Given the description of an element on the screen output the (x, y) to click on. 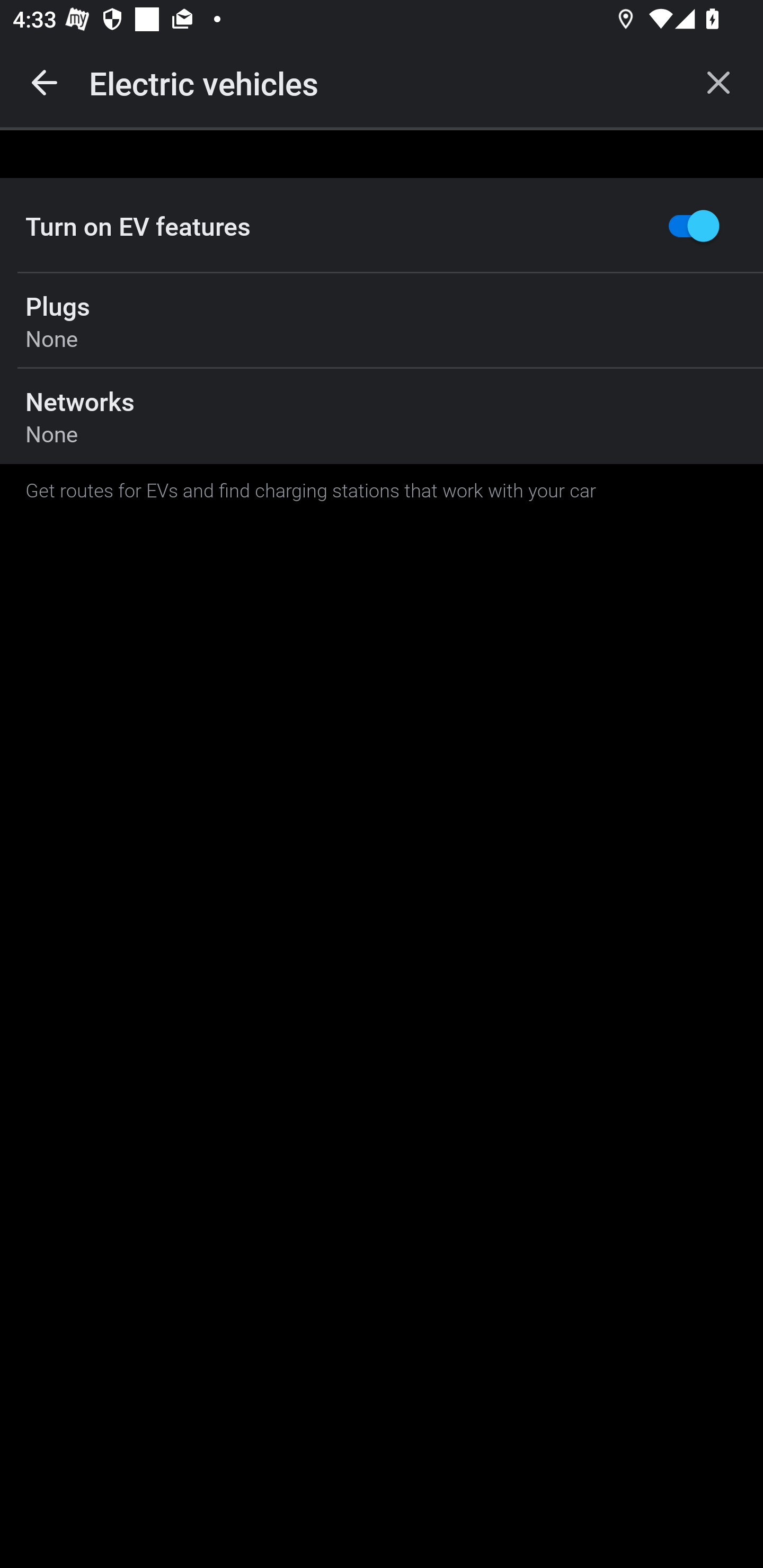
Turn on EV features (381, 225)
Plugs None (381, 320)
Networks None (381, 416)
